Given the description of an element on the screen output the (x, y) to click on. 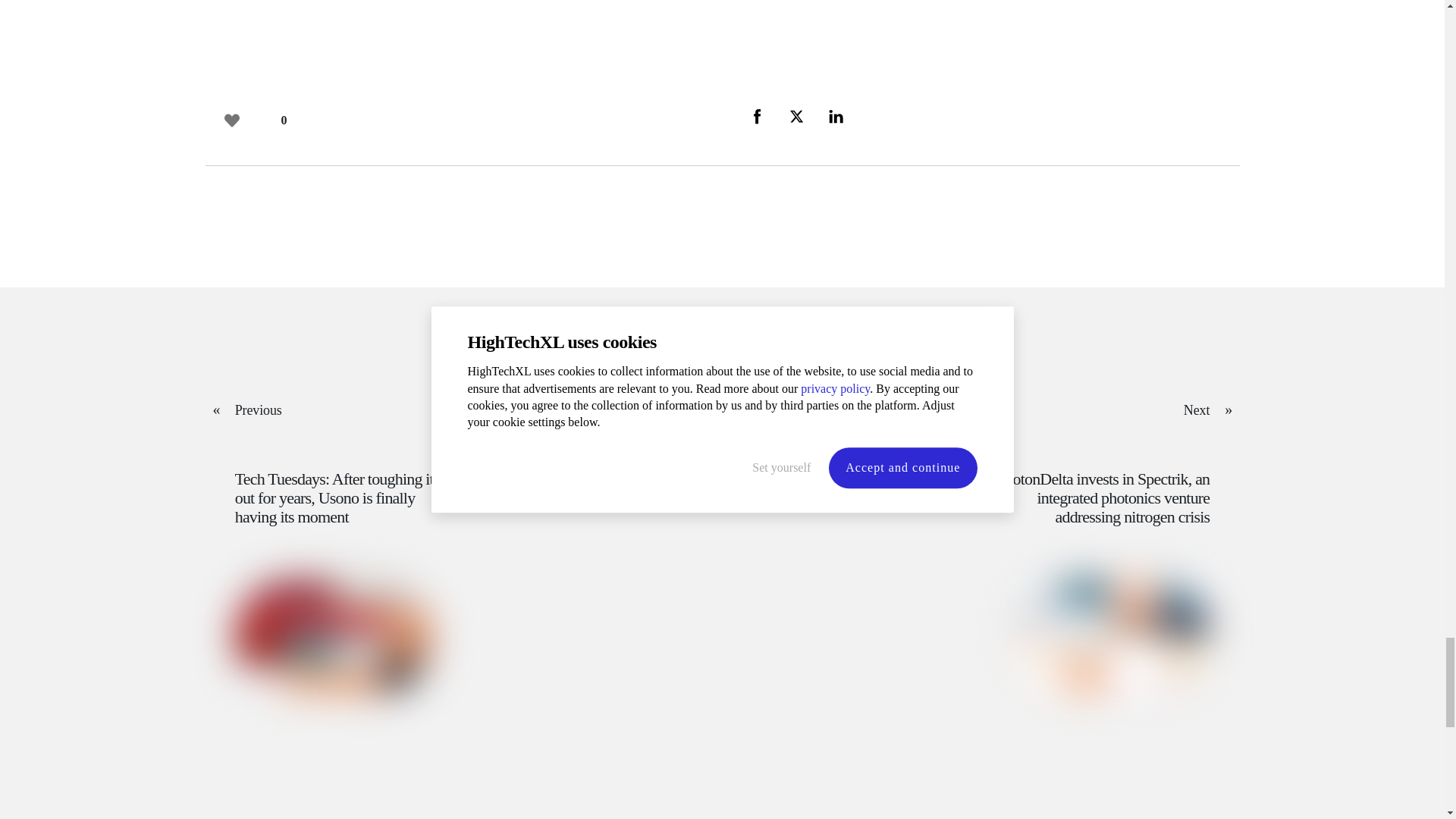
Spectrik B (1110, 635)
Probefi (333, 635)
